Given the description of an element on the screen output the (x, y) to click on. 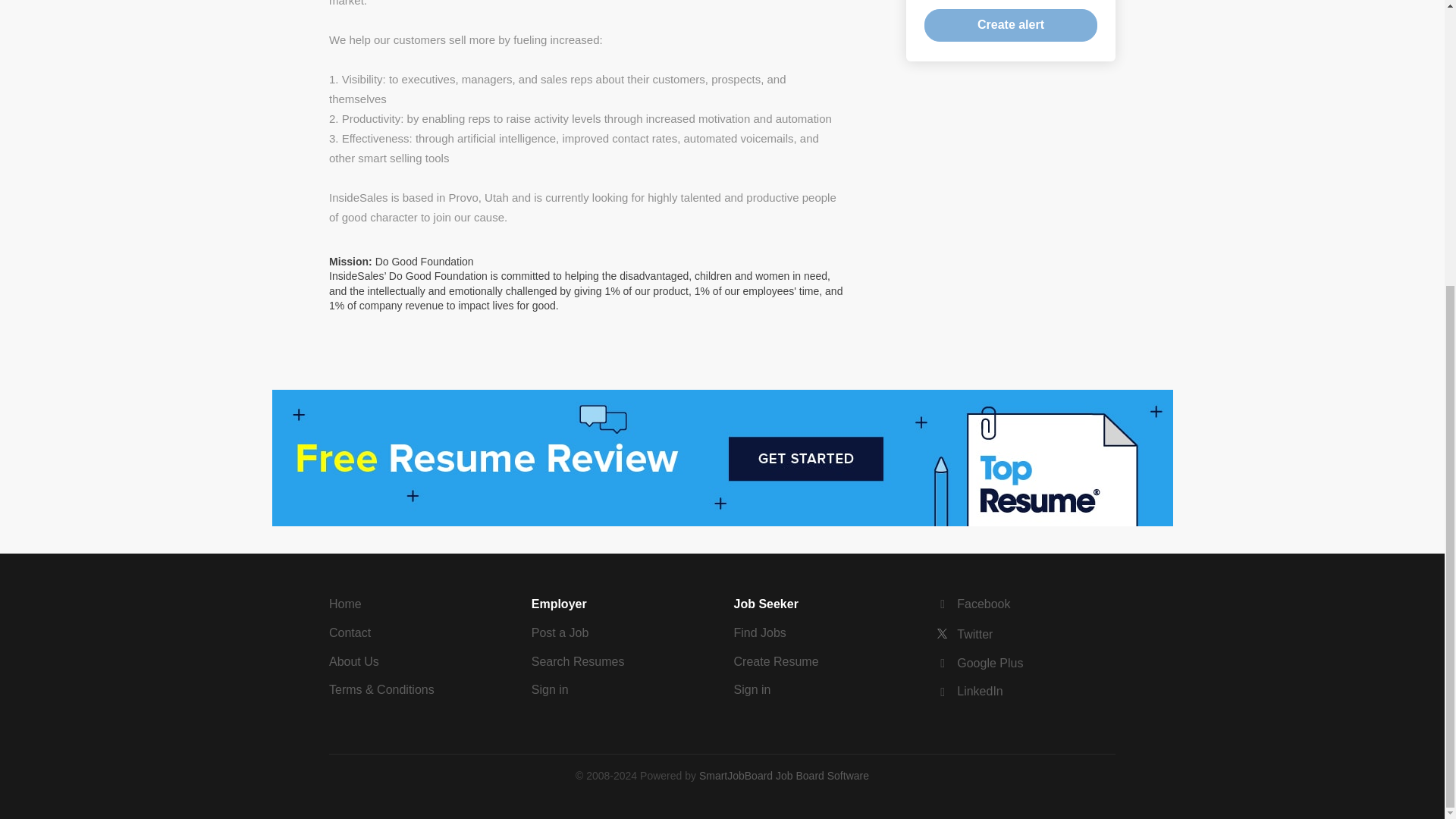
About Us (353, 661)
Twitter (964, 634)
Facebook (973, 603)
Contact (350, 632)
Create Resume (775, 661)
Home (345, 603)
Google Plus (979, 662)
Job Board Software, Script (783, 775)
Create alert (1010, 25)
Create alert (1010, 25)
